Given the description of an element on the screen output the (x, y) to click on. 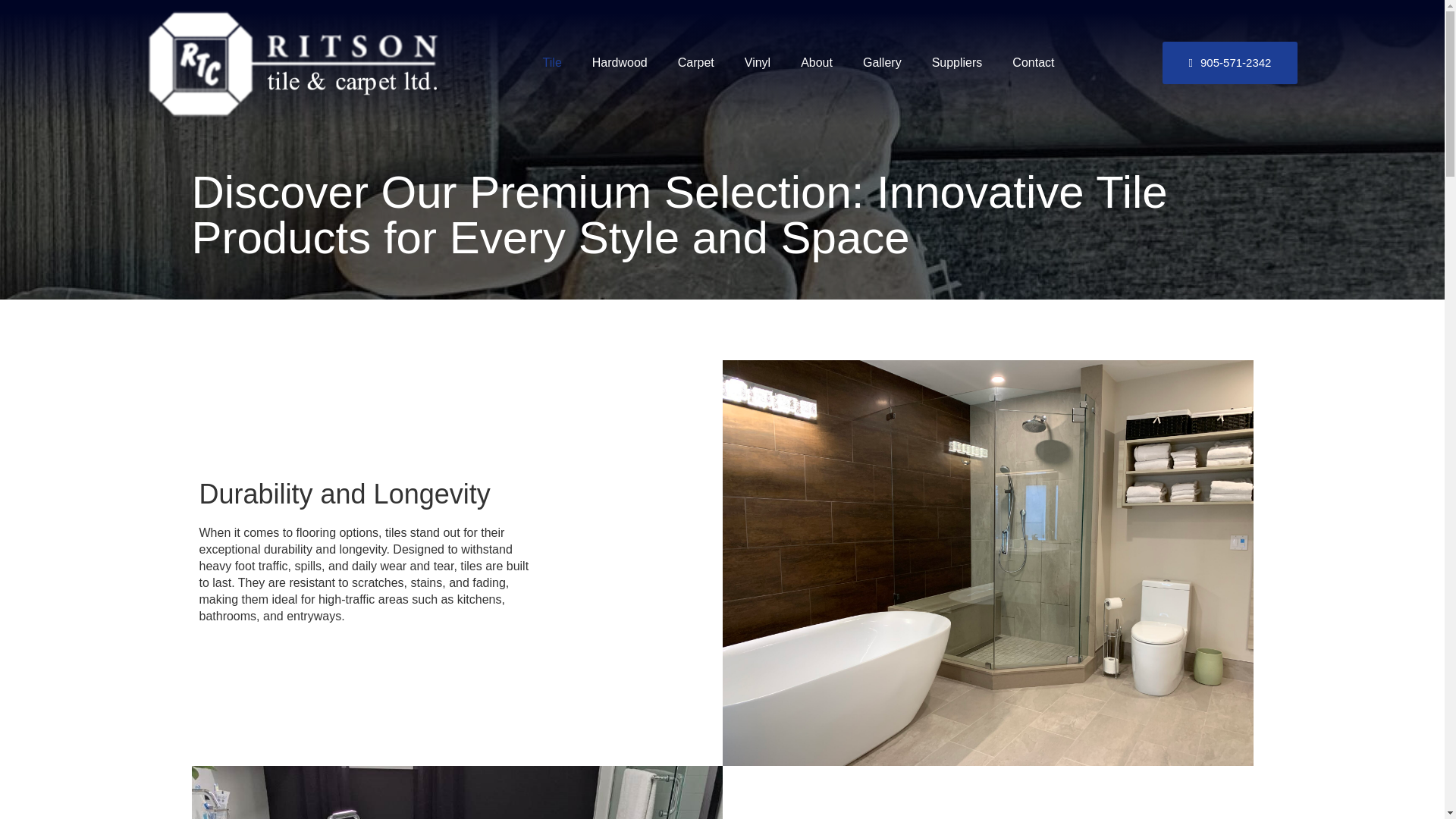
Tile (551, 62)
Contact (1032, 62)
Carpet (695, 62)
About (816, 62)
905-571-2342 (1229, 62)
Suppliers (957, 62)
Gallery (882, 62)
Hardwood (619, 62)
Vinyl (757, 62)
